Given the description of an element on the screen output the (x, y) to click on. 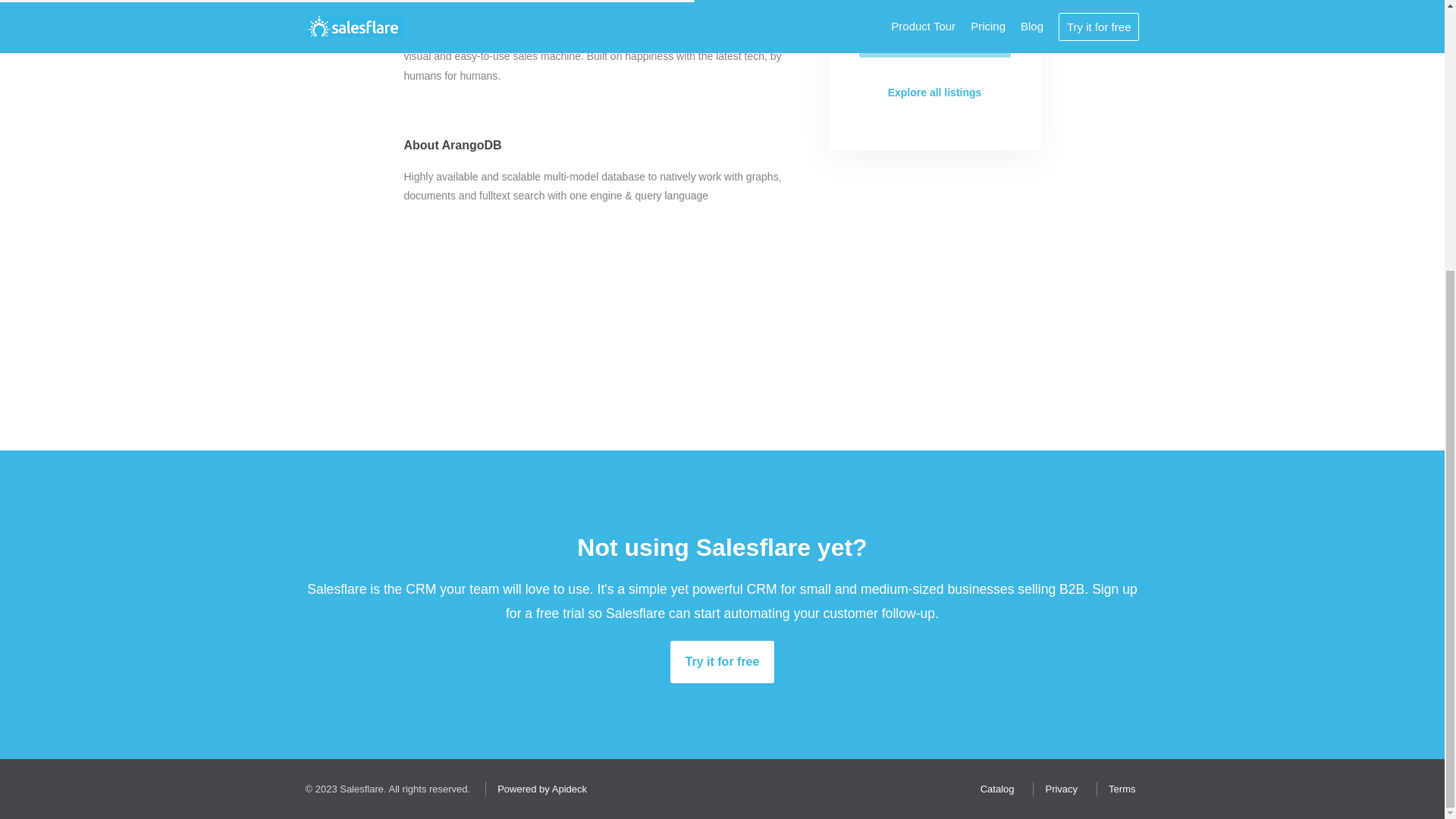
Terms (1117, 789)
Try it for free (721, 661)
Privacy (1057, 789)
Powered by Apideck (538, 789)
Catalog (993, 789)
Explore all listings (934, 92)
Request this listing (934, 37)
